Given the description of an element on the screen output the (x, y) to click on. 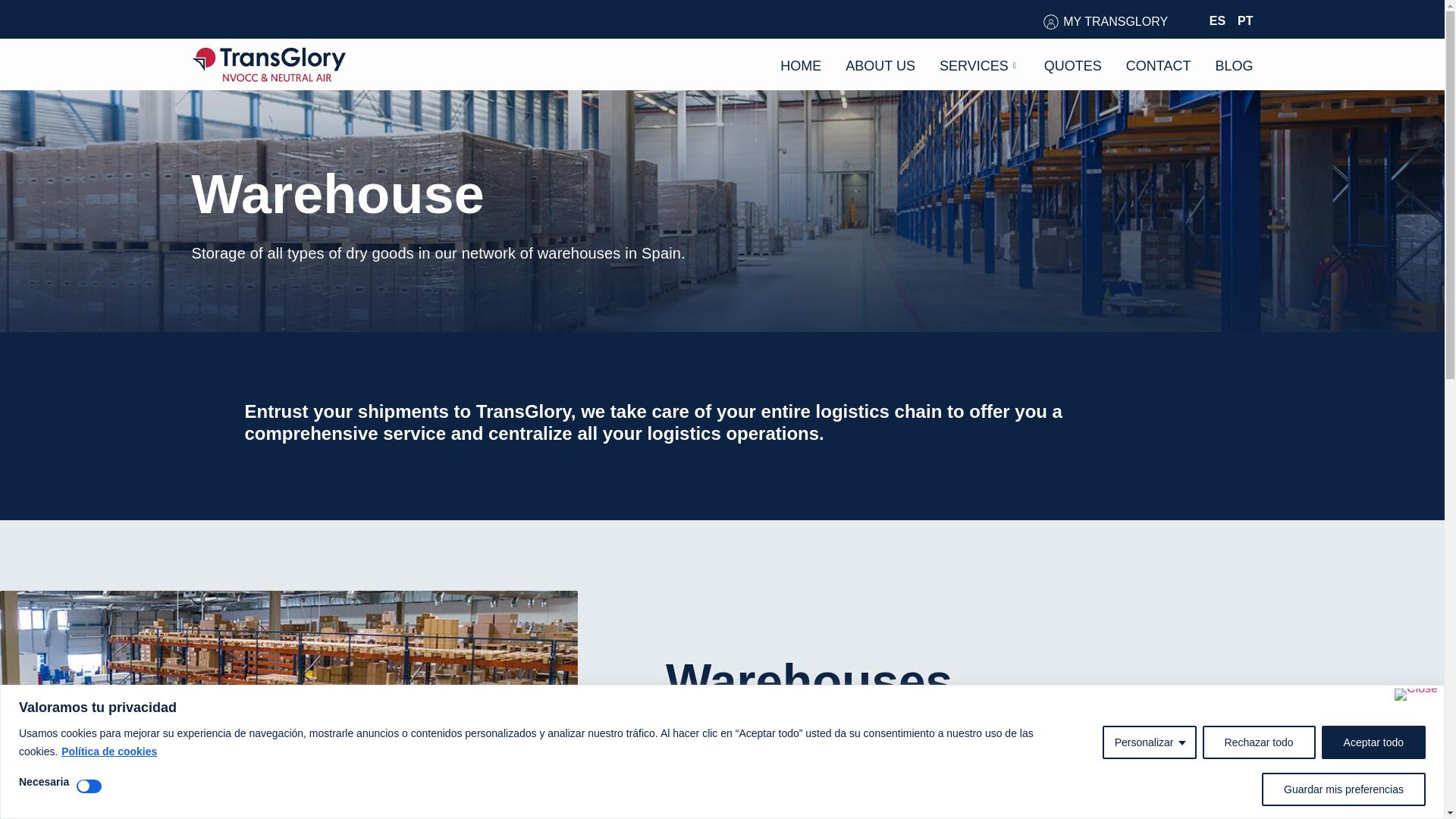
HOME (800, 63)
QUOTES (1072, 63)
Personalizar (1149, 741)
PT (1241, 20)
SERVICES (979, 63)
BLOG (1233, 63)
Aceptar todo (1373, 741)
ABOUT US (880, 63)
on (89, 786)
CONTACT (1158, 63)
Rechazar todo (1259, 741)
ES (1214, 20)
Guardar mis preferencias (1343, 788)
